Given the description of an element on the screen output the (x, y) to click on. 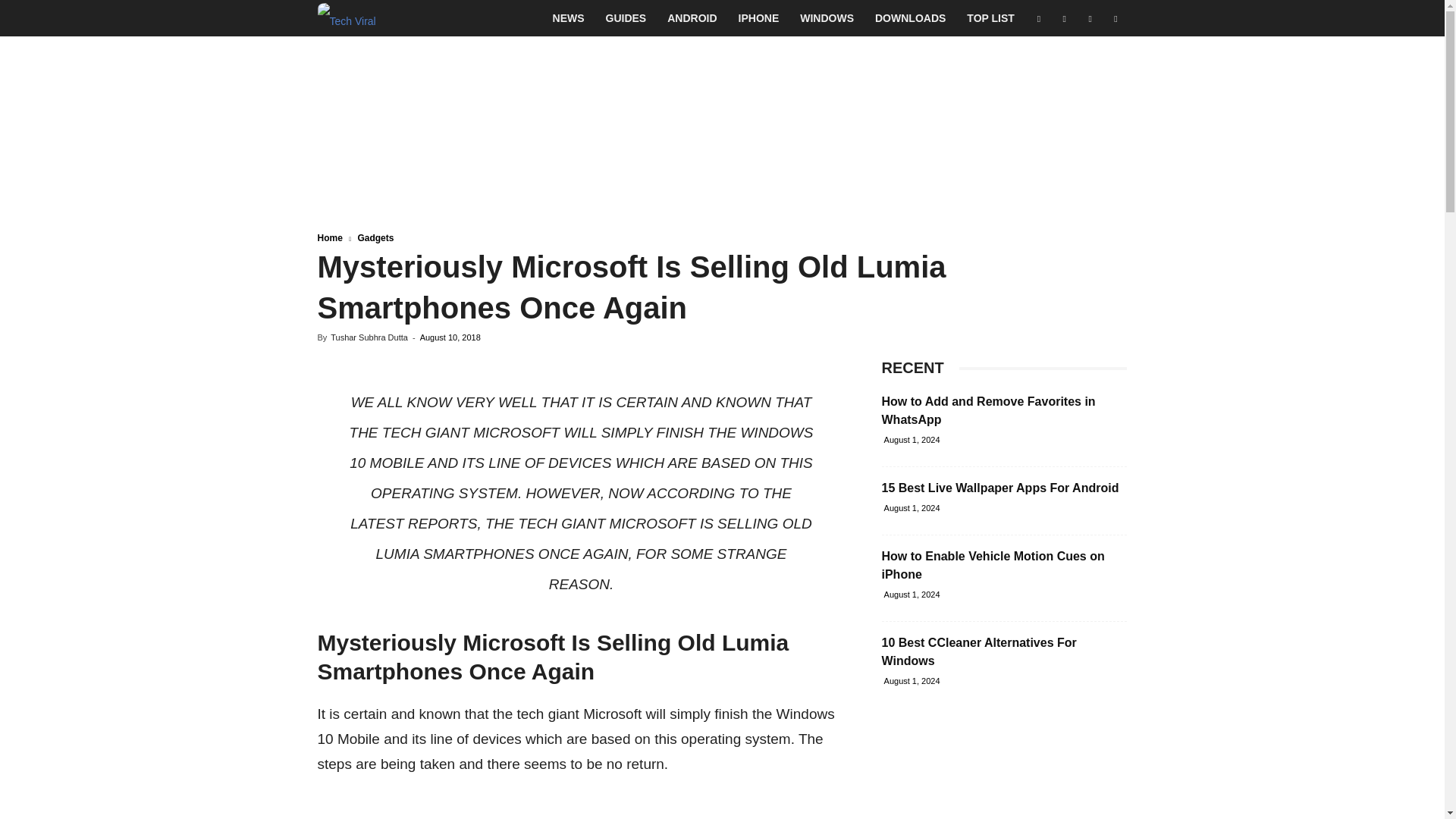
IPHONE (759, 18)
Tushar Subhra Dutta (368, 337)
DOWNLOADS (910, 18)
Tech Viral (346, 18)
TOP LIST (990, 18)
Home (329, 237)
ANDROID (691, 18)
WINDOWS (826, 18)
How to Add and Remove Favorites in WhatsApp (987, 409)
NEWS (568, 18)
TechViral (346, 18)
GUIDES (626, 18)
